Given the description of an element on the screen output the (x, y) to click on. 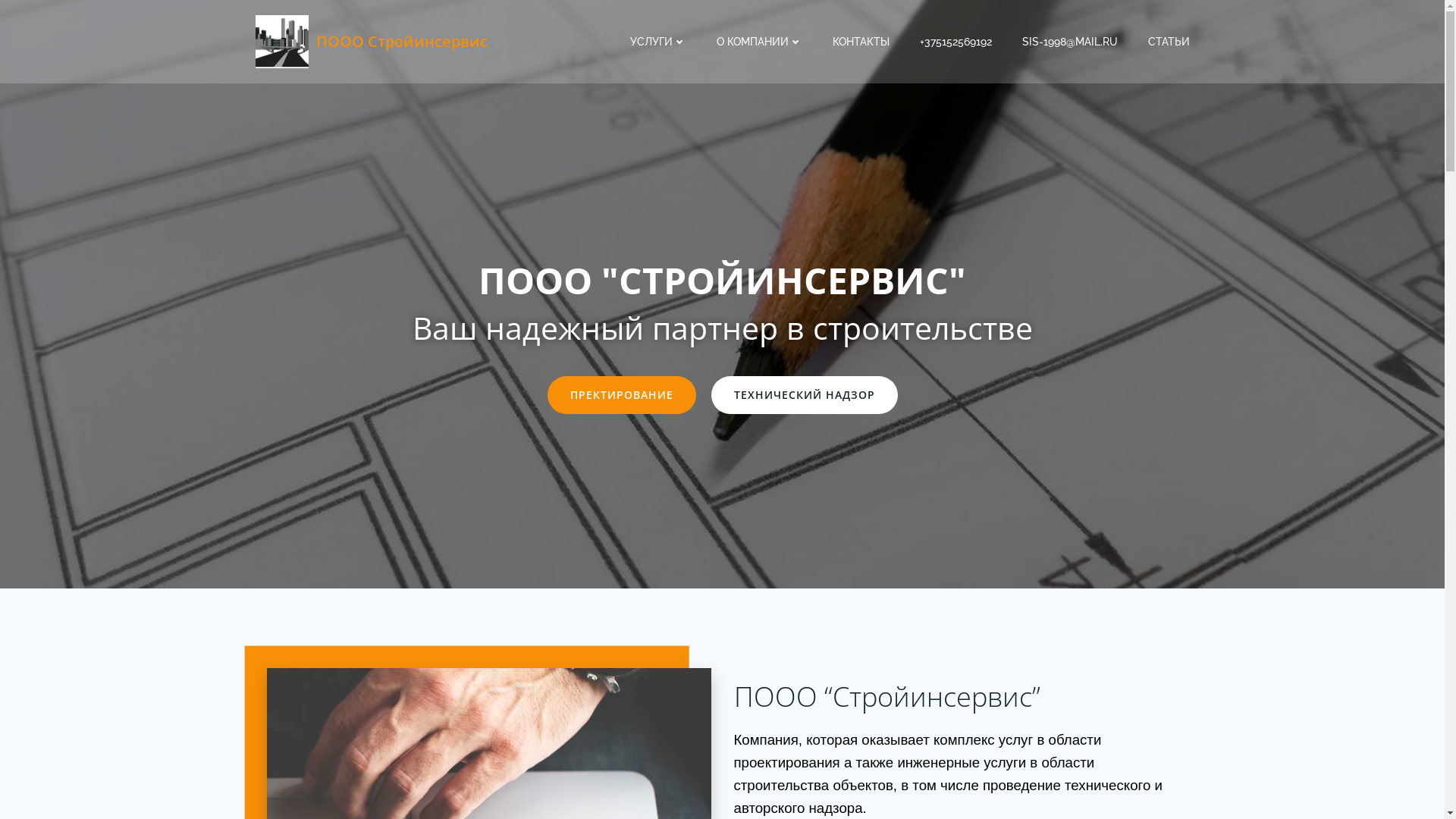
+375152569192 Element type: text (955, 41)
SIS-1998@MAIL.RU Element type: text (1069, 41)
